Given the description of an element on the screen output the (x, y) to click on. 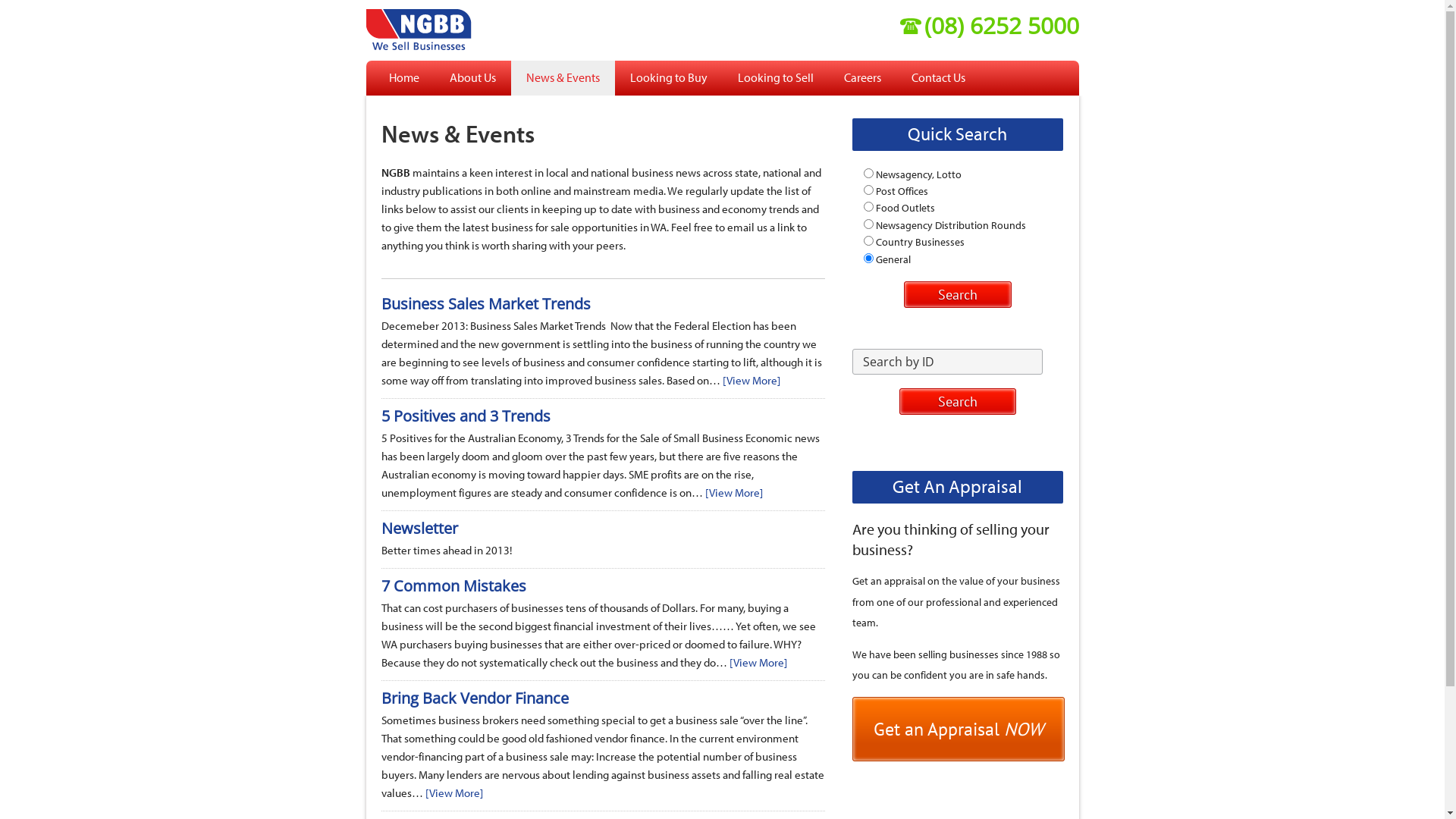
5 Positives and 3 Trends Element type: text (464, 415)
[View More] Element type: text (453, 792)
(08) 6252 5000 Element type: text (988, 24)
Search Element type: text (957, 401)
[View More] Element type: text (758, 662)
Newsletter Element type: text (418, 527)
Business Sales Market Trends Element type: text (484, 303)
[View More] Element type: text (750, 380)
[View More] Element type: text (733, 492)
Get an Appraisal NOW Element type: text (958, 728)
NGBB Element type: text (454, 27)
Bring Back Vendor Finance Element type: text (473, 697)
Home Element type: text (403, 77)
7 Common Mistakes Element type: text (452, 585)
Contact Us Element type: text (938, 77)
Search Element type: text (957, 294)
